Given the description of an element on the screen output the (x, y) to click on. 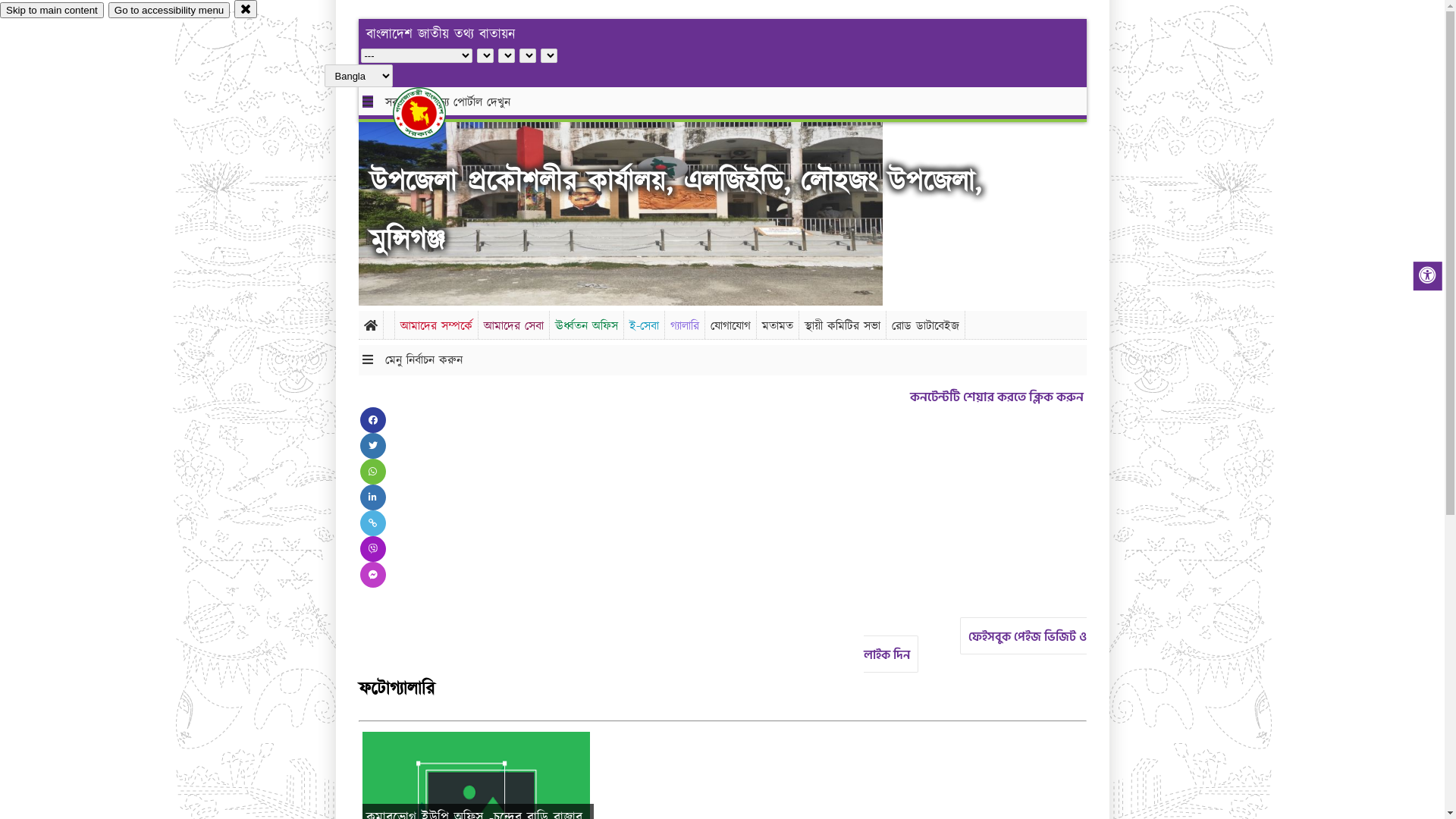

                
             Element type: hover (431, 112)
close Element type: hover (245, 9)
Go to accessibility menu Element type: text (168, 10)
Skip to main content Element type: text (51, 10)
